Given the description of an element on the screen output the (x, y) to click on. 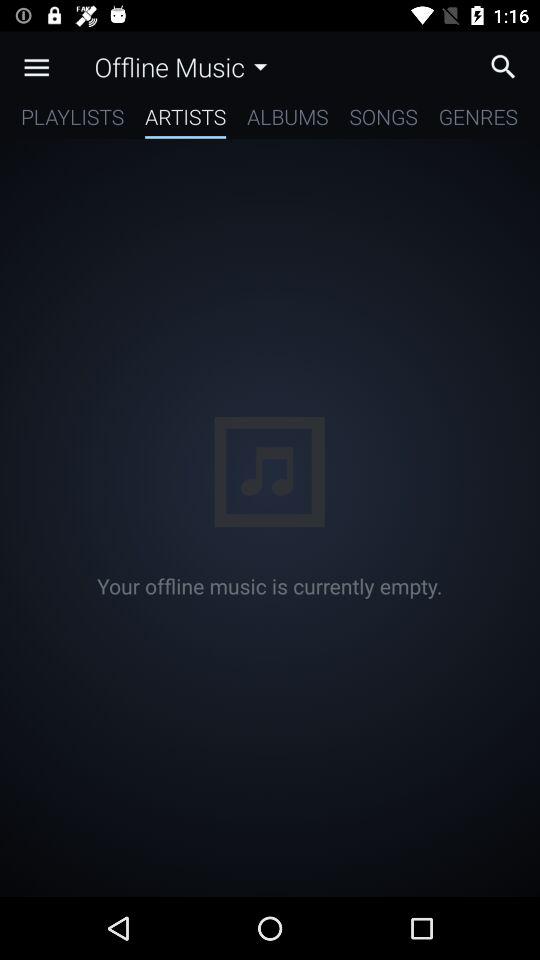
press item to the left of the albums (185, 120)
